Given the description of an element on the screen output the (x, y) to click on. 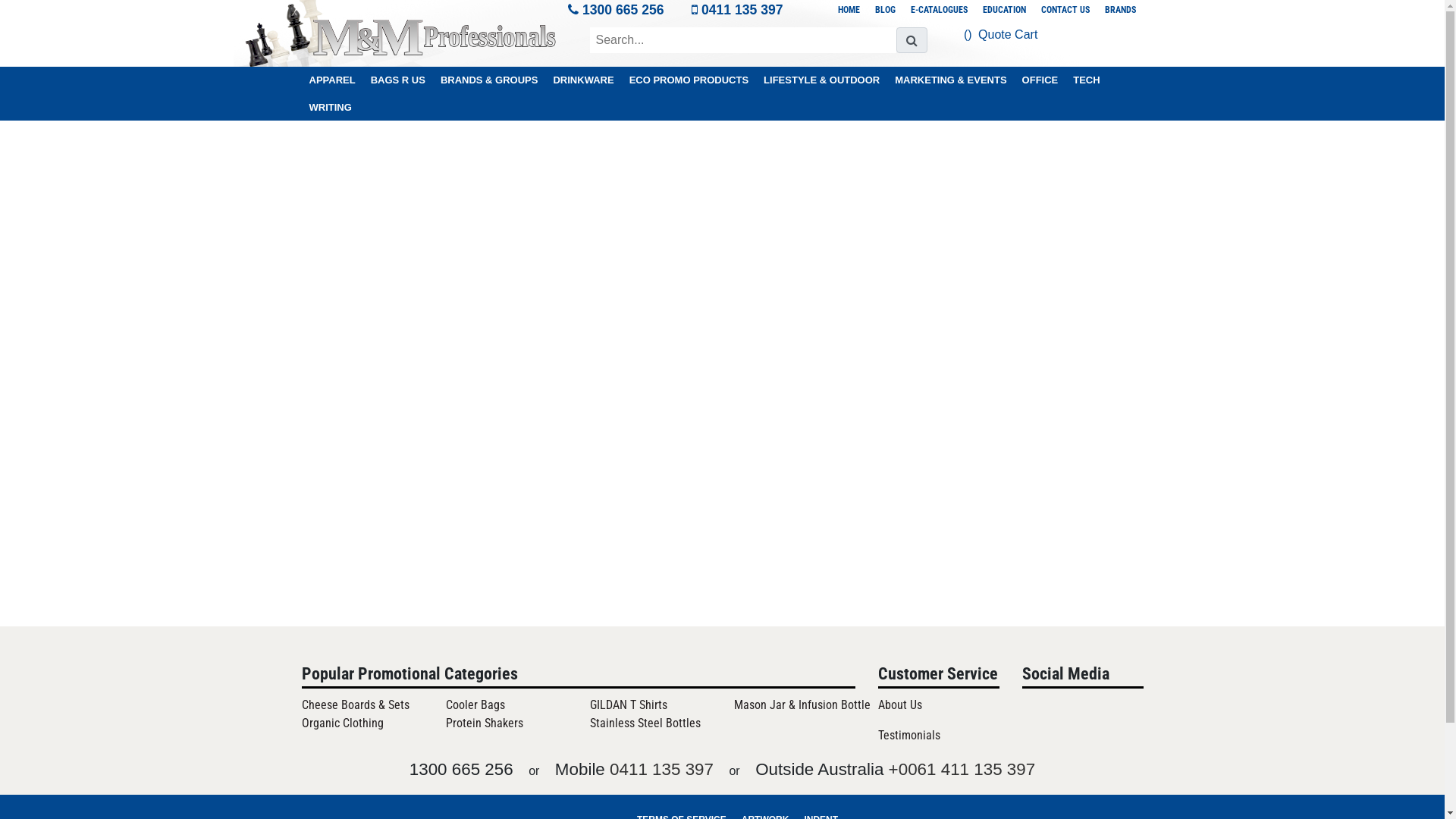
Logo Element type: hover (434, 37)
0411 135 397 Element type: text (661, 768)
CONTACT US Element type: text (1064, 9)
LIFESTYLE & OUTDOOR Element type: text (821, 80)
BRANDS Element type: text (1119, 9)
Cheese Boards & Sets Element type: text (355, 704)
BRANDS & GROUPS Element type: text (489, 80)
Quote Cart Element type: text (1007, 34)
E-CATALOGUES Element type: text (938, 9)
product title Element type: hover (742, 40)
MARKETING & EVENTS Element type: text (950, 80)
APPAREL Element type: text (332, 80)
DRINKWARE Element type: text (583, 80)
0411 135 397 Element type: text (742, 9)
OFFICE Element type: text (1040, 80)
ECO PROMO PRODUCTS Element type: text (688, 80)
GILDAN T Shirts Element type: text (628, 704)
HOME Element type: text (847, 9)
TECH Element type: text (1086, 80)
About Us Element type: text (938, 705)
Cooler Bags Element type: text (475, 704)
Testimonials Element type: text (938, 735)
Mason Jar & Infusion Bottle Element type: text (802, 704)
WRITING Element type: text (330, 107)
+0061 411 135 397 Element type: text (961, 768)
BLOG Element type: text (885, 9)
Stainless Steel Bottles Element type: text (644, 722)
BAGS R US Element type: text (398, 80)
Protein Shakers Element type: text (484, 722)
Organic Clothing Element type: text (342, 722)
EDUCATION Element type: text (1004, 9)
